Given the description of an element on the screen output the (x, y) to click on. 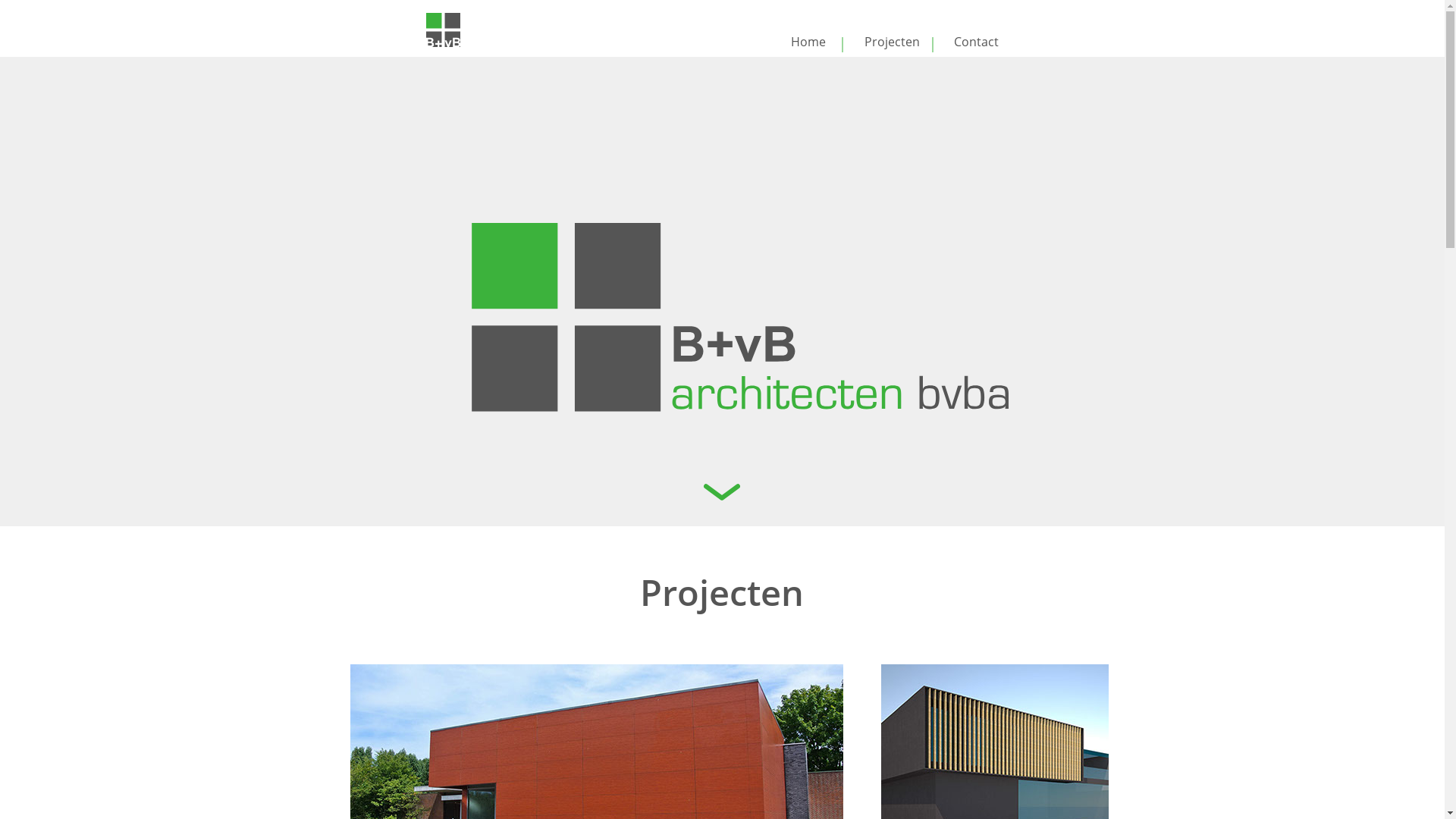
Projecten Element type: text (891, 42)
Home Element type: text (807, 42)
Contact Element type: text (976, 42)
